Given the description of an element on the screen output the (x, y) to click on. 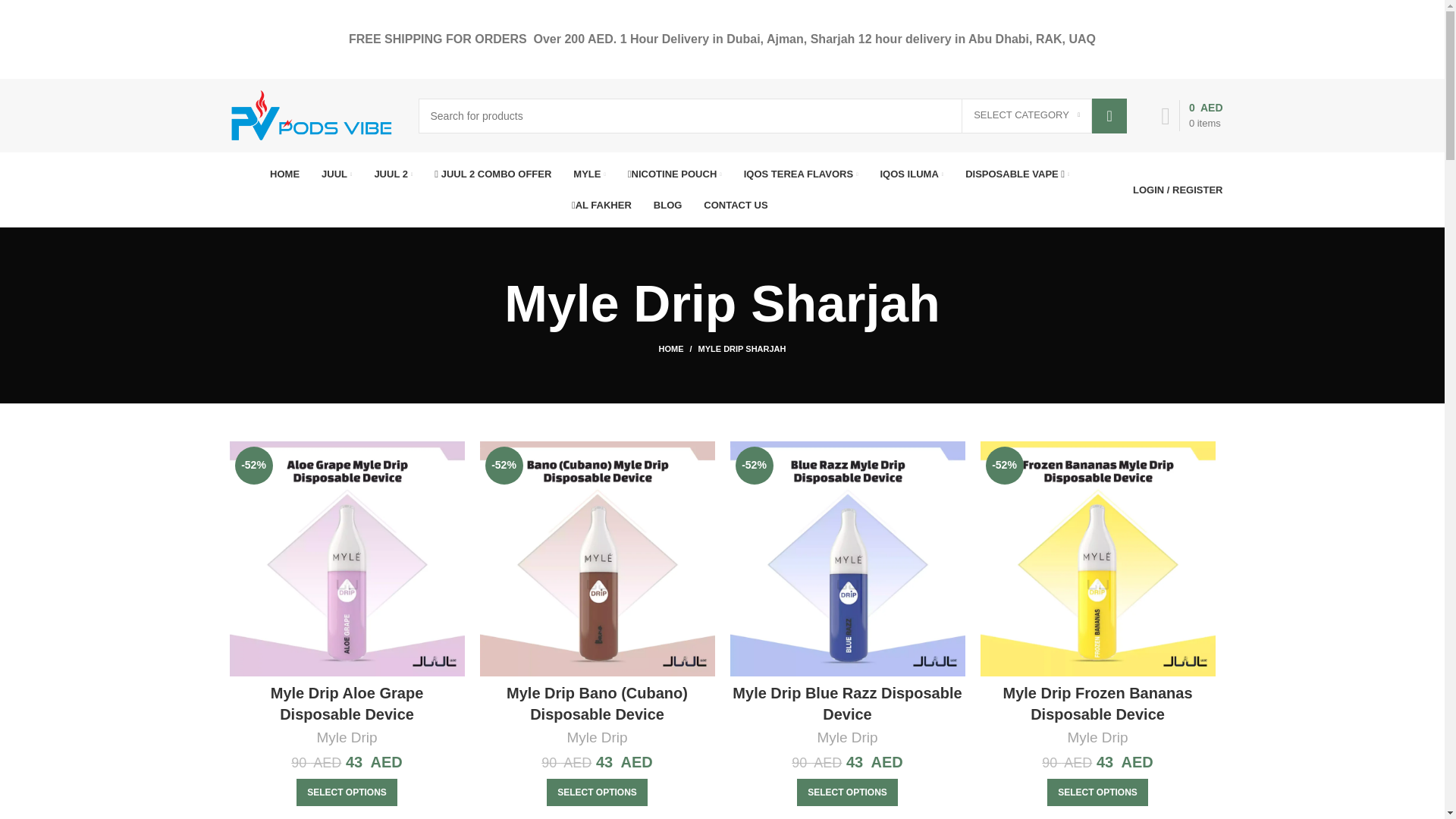
SELECT CATEGORY (1026, 111)
Shopping cart (1191, 115)
Search for products (772, 115)
SELECT CATEGORY (1026, 114)
My account (1177, 189)
